Given the description of an element on the screen output the (x, y) to click on. 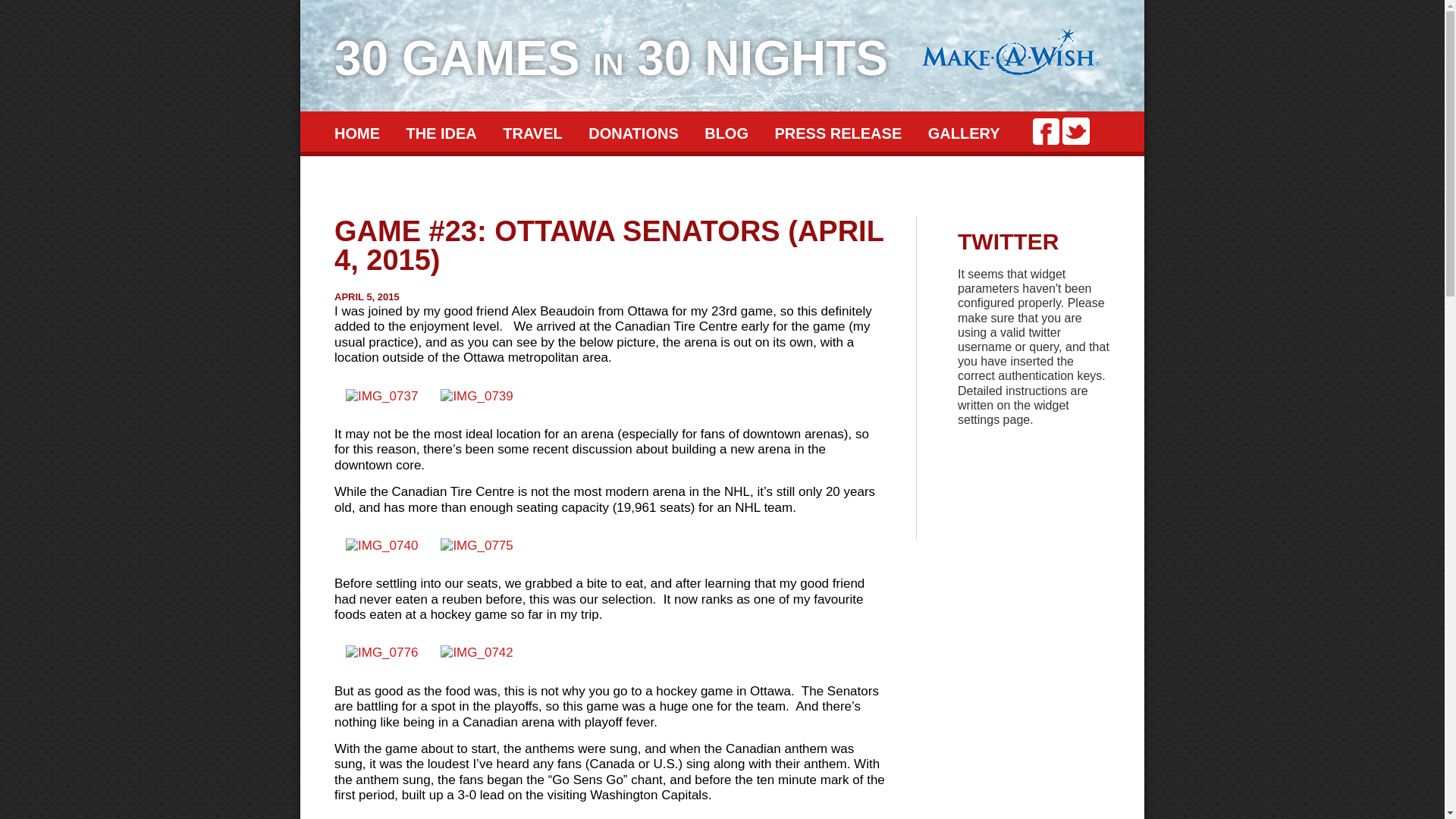
Twitter Element type: text (1075, 130)
THE IDEA Element type: text (440, 133)
HOME Element type: text (356, 133)
Facebook Element type: text (1045, 131)
BLOG Element type: text (726, 133)
TRAVEL Element type: text (532, 133)
GAME #23: OTTAWA SENATORS (APRIL 4, 2015) Element type: text (608, 245)
PRESS RELEASE Element type: text (837, 133)
GALLERY Element type: text (964, 133)
DONATIONS Element type: text (633, 133)
